Given the description of an element on the screen output the (x, y) to click on. 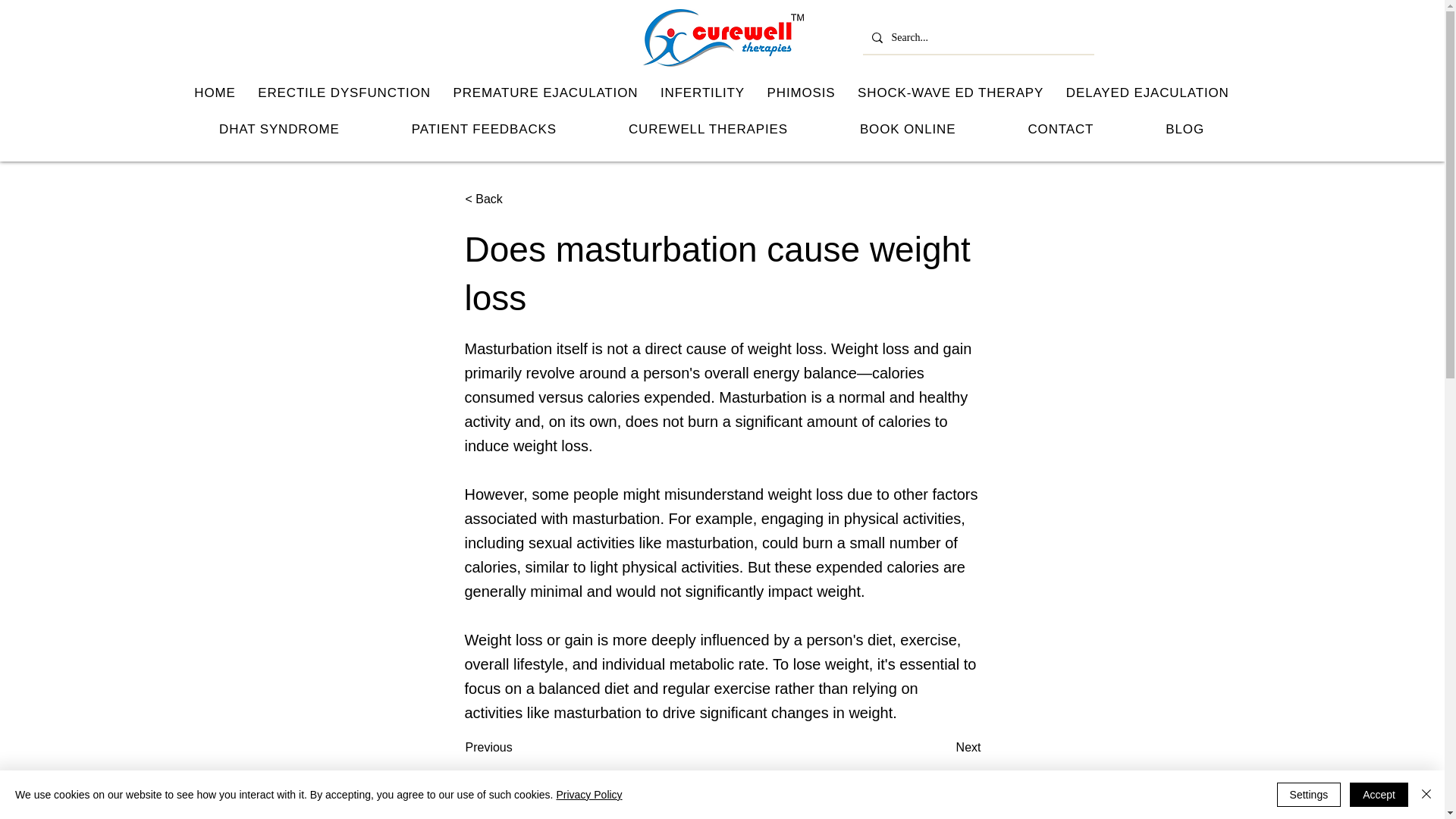
Accept (1378, 794)
BOOK ONLINE (907, 129)
PHIMOSIS (801, 92)
INFERTILITY (702, 92)
HOME (215, 92)
CONTACT (1060, 129)
DHAT SYNDROME (279, 129)
Privacy Policy (588, 794)
CUREWELL THERAPIES (708, 129)
DELAYED EJACULATION (1147, 92)
